Given the description of an element on the screen output the (x, y) to click on. 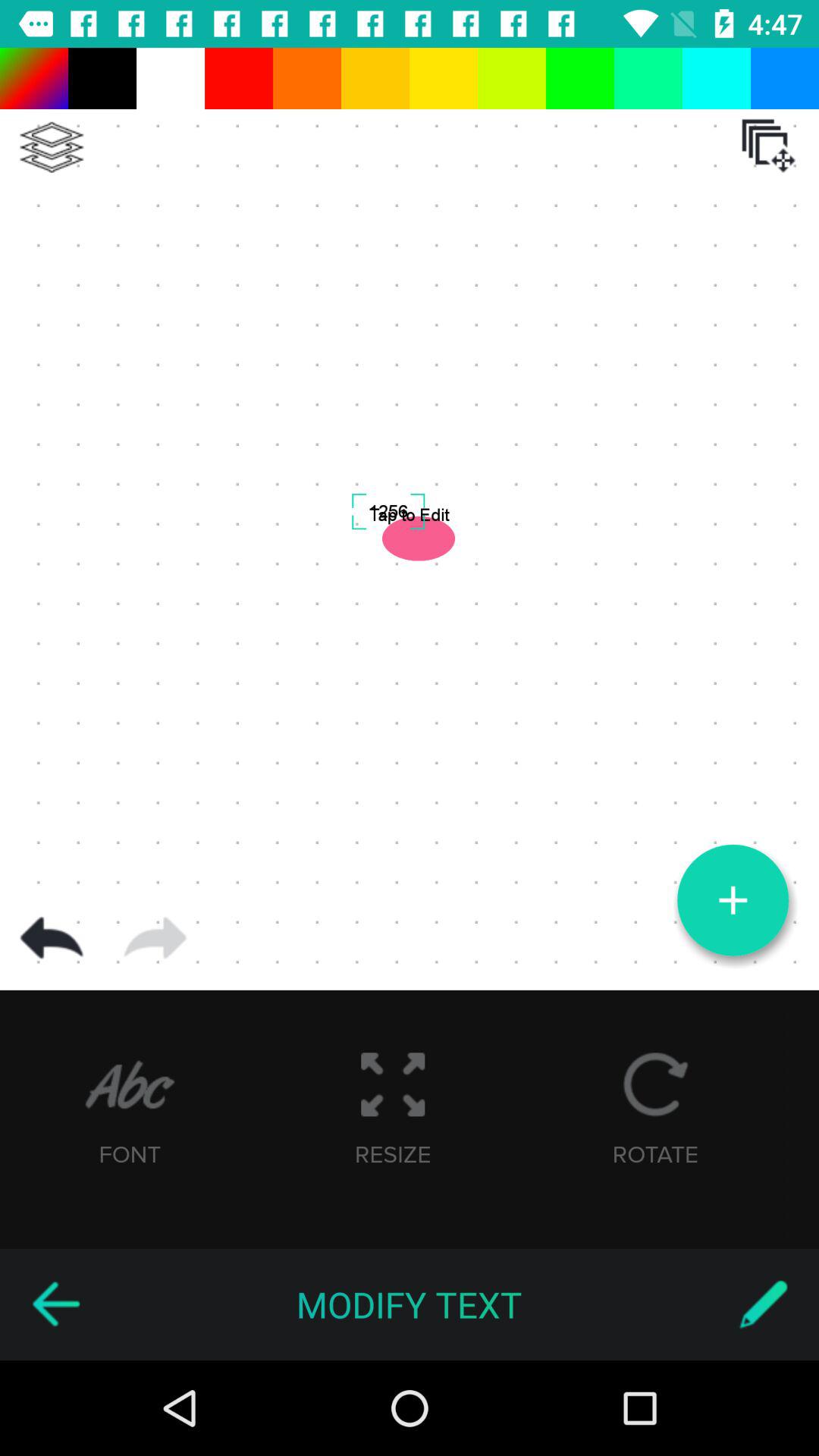
redo (155, 938)
